Given the description of an element on the screen output the (x, y) to click on. 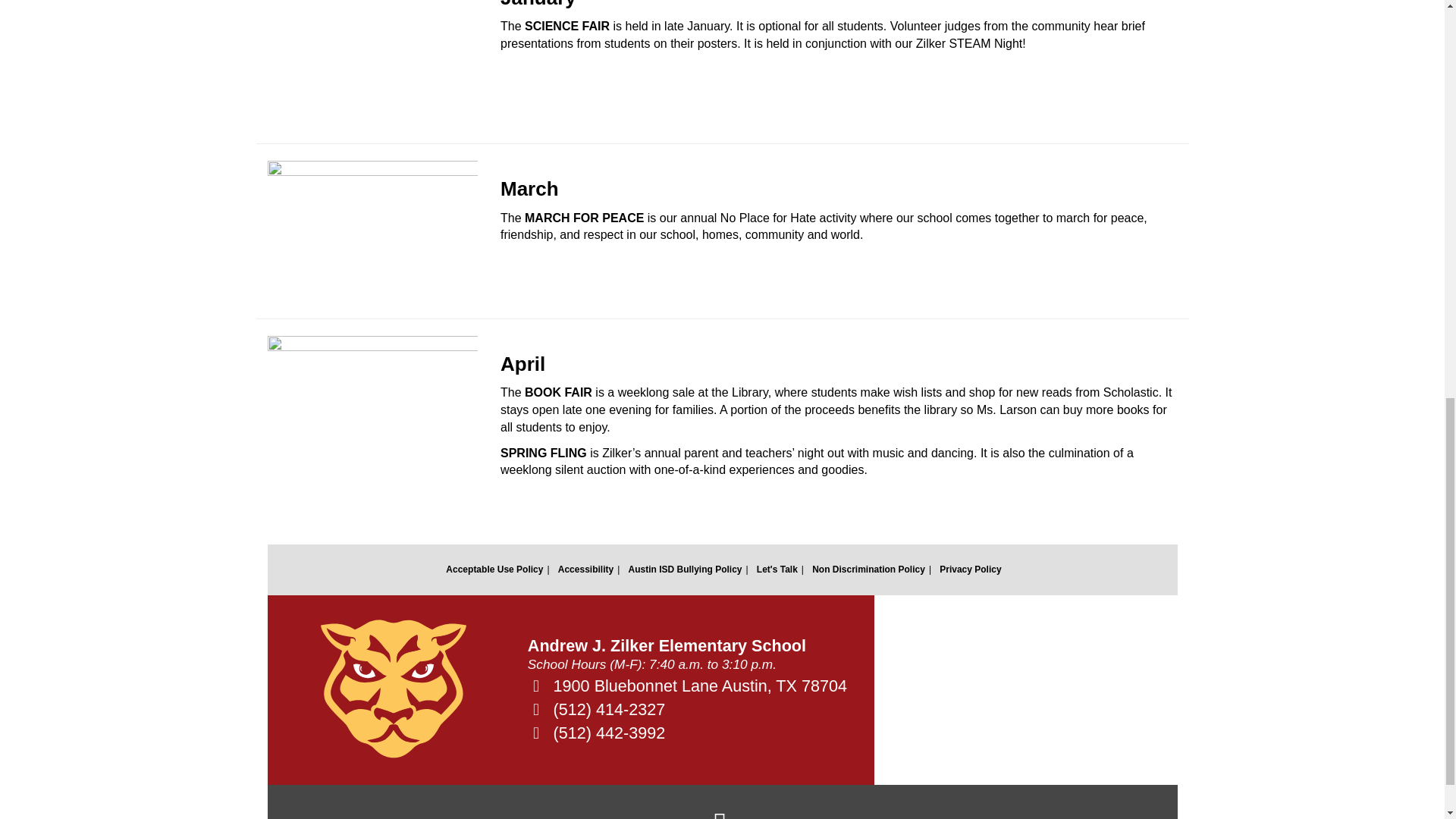
Google Map to Andrew J. Zilker Elementary School (1024, 689)
